Given the description of an element on the screen output the (x, y) to click on. 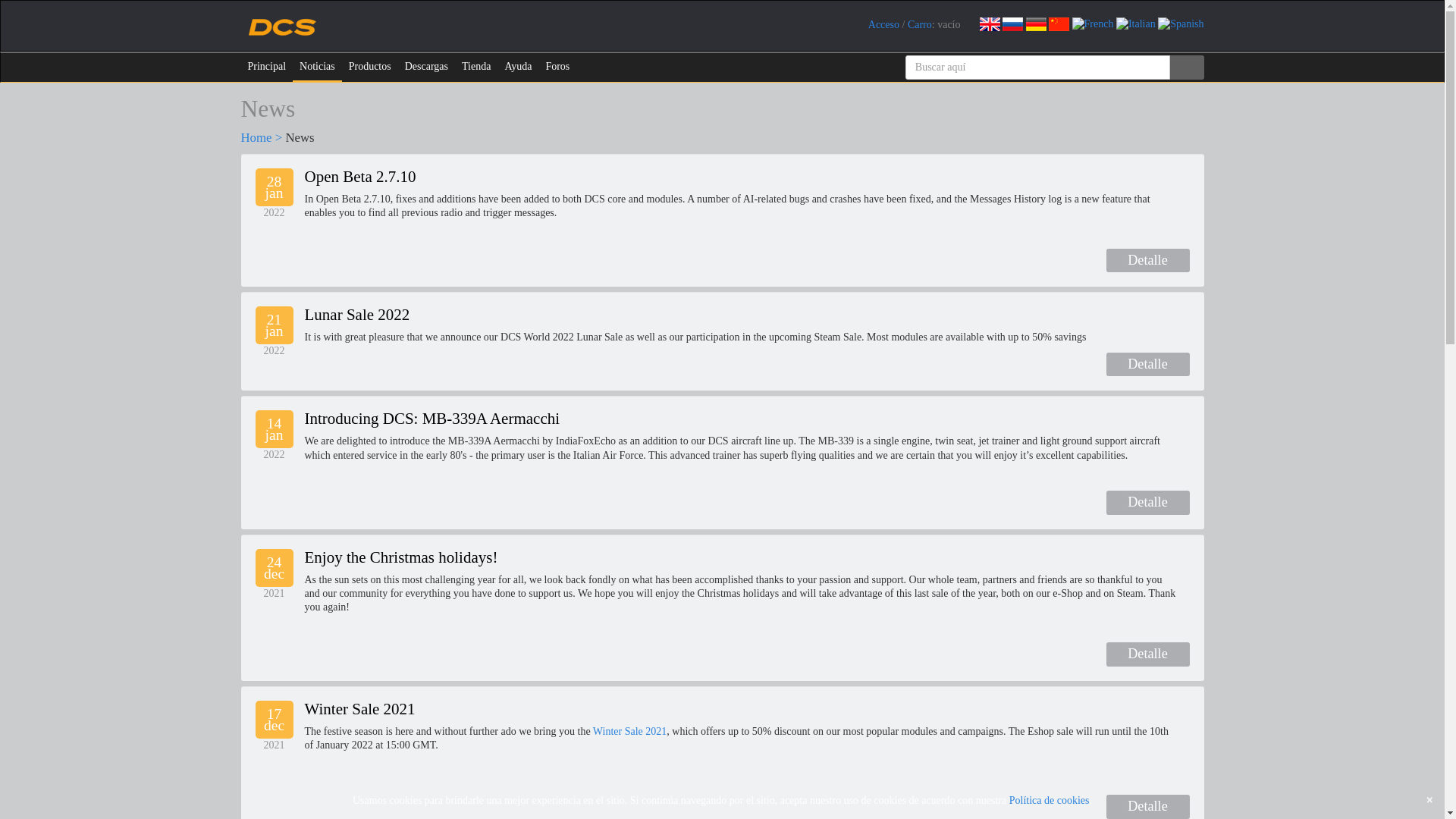
Principal (267, 66)
Carro (919, 24)
Descargas (425, 66)
Buscar (1186, 66)
Acceso (883, 24)
Tienda (475, 66)
Home (256, 137)
Noticias (317, 67)
Ayuda (517, 66)
Buscar (1186, 66)
Productos (369, 66)
